Given the description of an element on the screen output the (x, y) to click on. 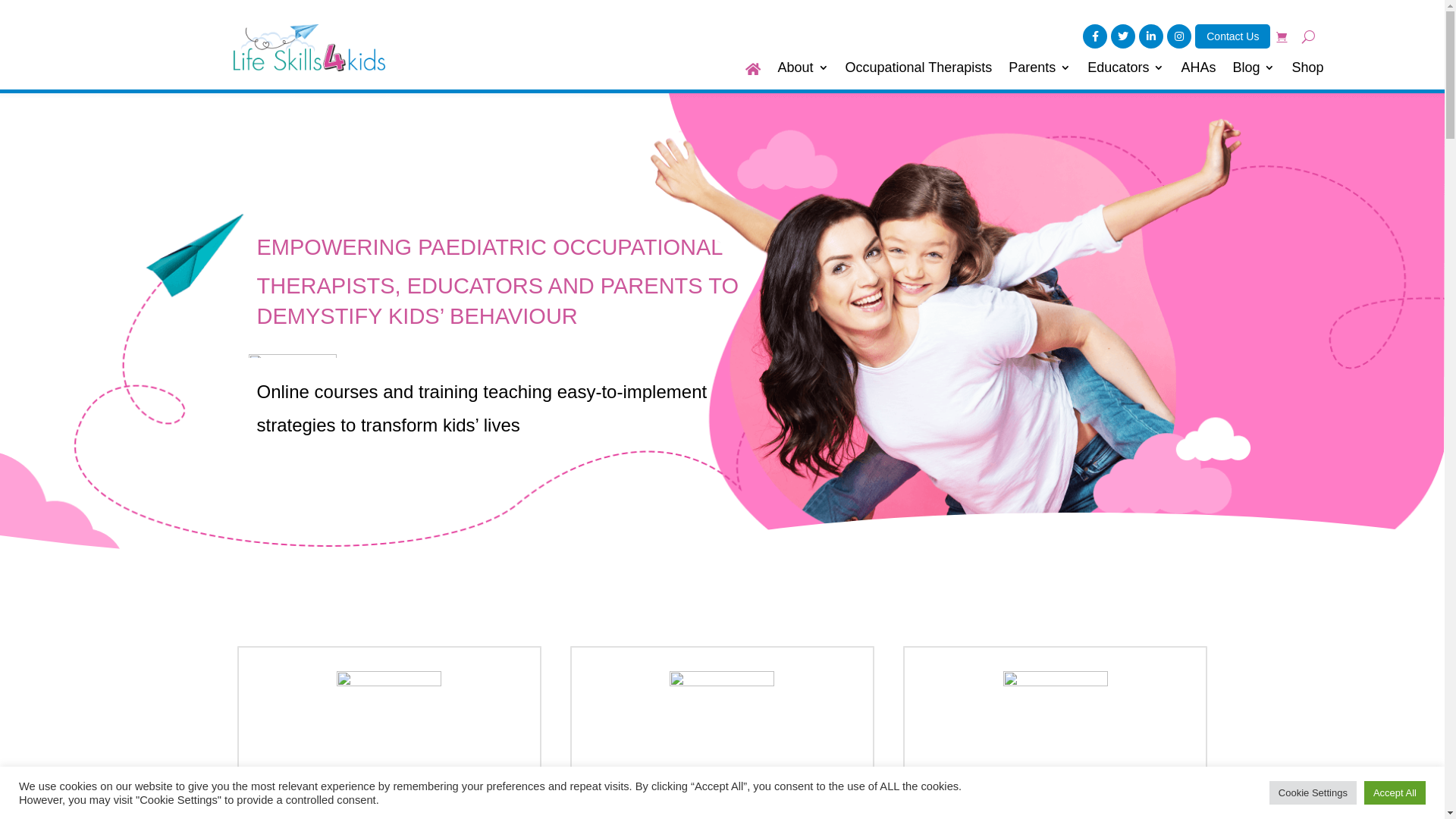
About Element type: text (802, 71)
Occupational Therapists Element type: text (918, 71)
AHAs Element type: text (1197, 71)
Contact Us Element type: text (1232, 36)
Accept All Element type: text (1394, 792)
lines Element type: hover (292, 355)
Blog Element type: text (1253, 71)
Parents Element type: text (1039, 71)
Shop Element type: text (1307, 71)
Cookie Settings Element type: text (1312, 792)
Educators Element type: text (1125, 71)
